Given the description of an element on the screen output the (x, y) to click on. 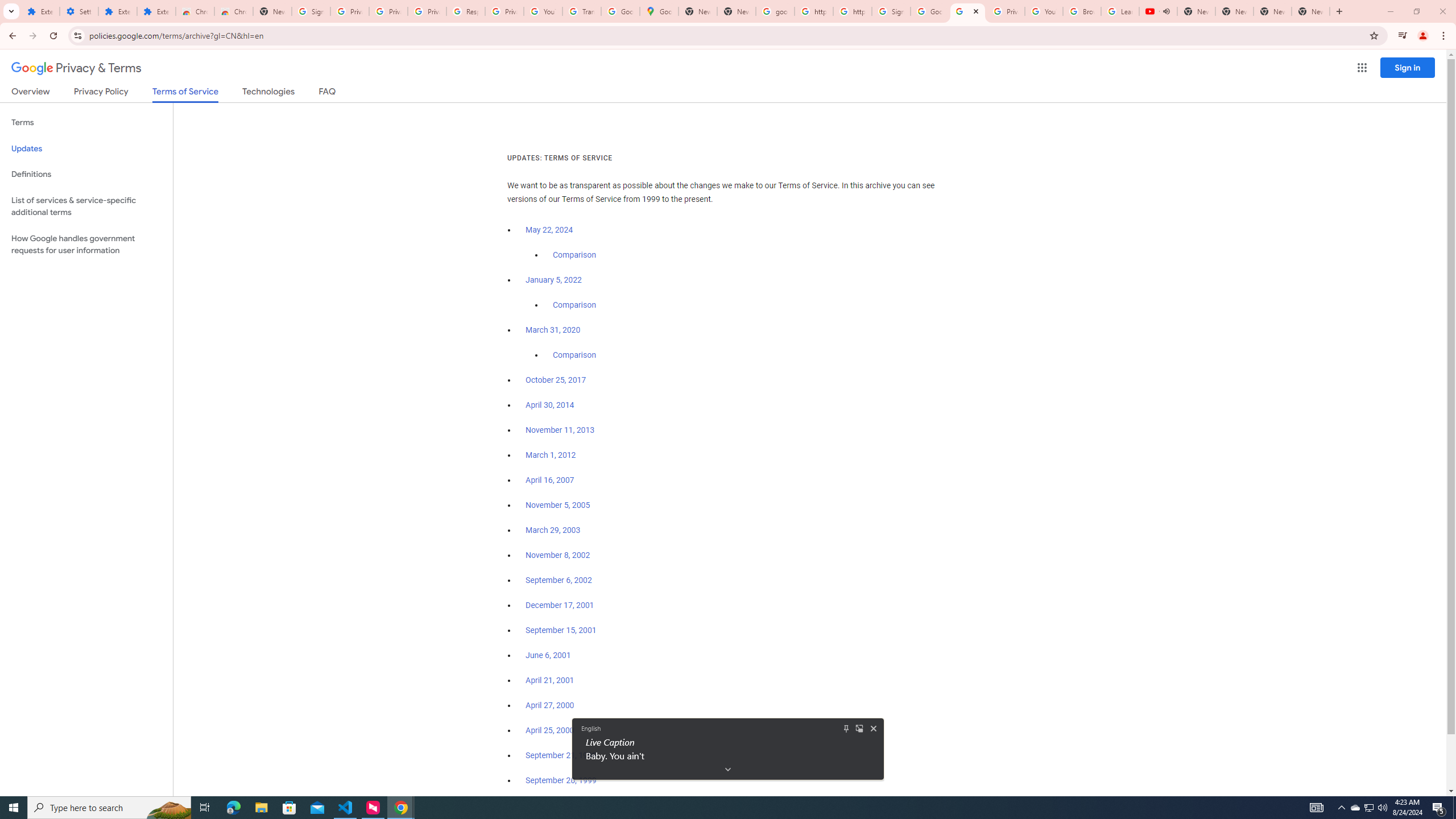
Google Chrome - 3 running windows (1368, 807)
Settings (400, 807)
January 5, 2022 (79, 11)
New Tab (553, 280)
November 8, 2002 (1311, 11)
October 25, 2017 (557, 555)
April 30, 2014 (555, 380)
Start (550, 405)
April 16, 2007 (13, 807)
Back to tab (550, 480)
Definitions (859, 728)
